Given the description of an element on the screen output the (x, y) to click on. 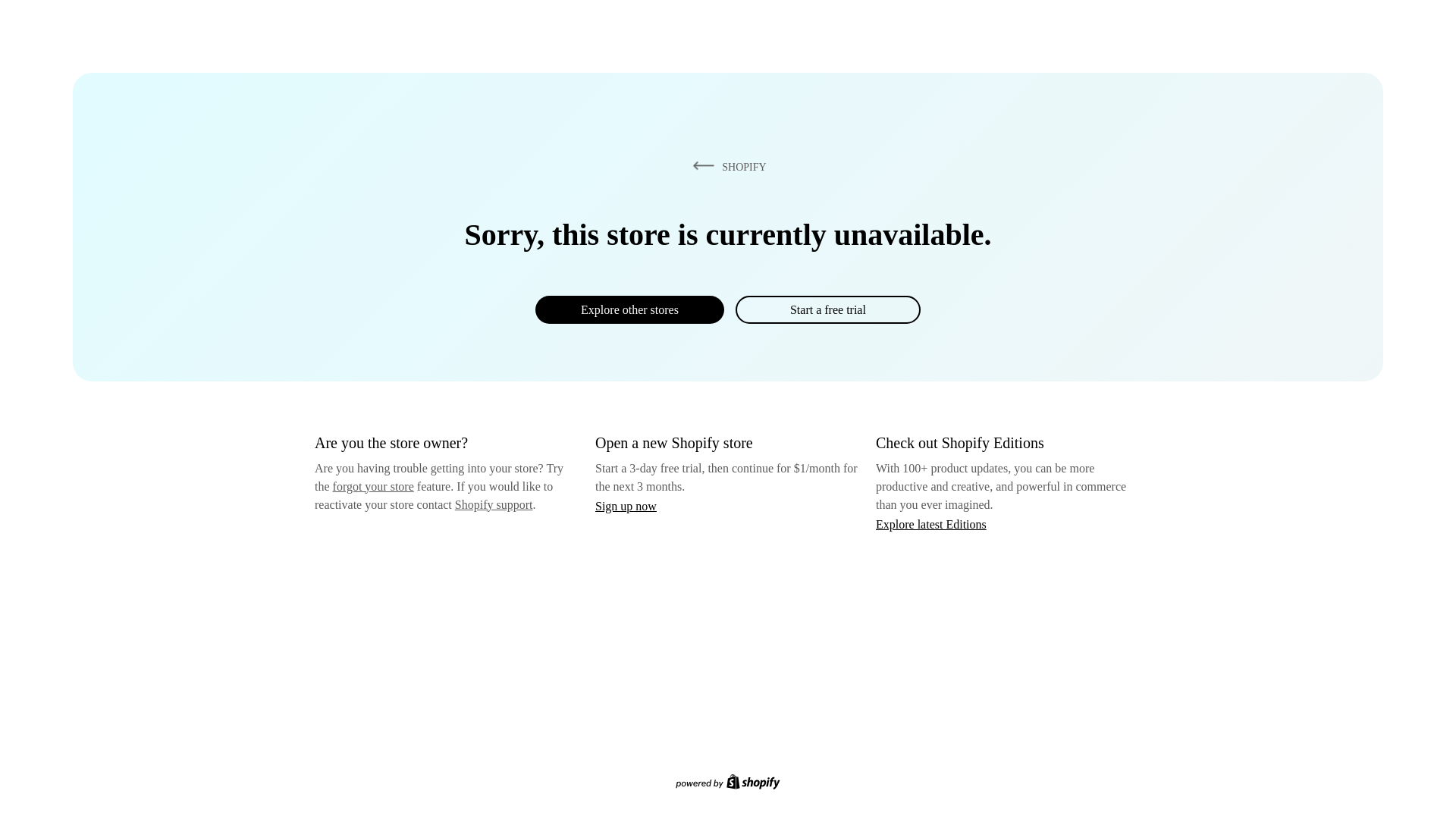
Start a free trial (827, 309)
Shopify support (493, 504)
Explore other stores (629, 309)
Sign up now (625, 505)
SHOPIFY (726, 166)
forgot your store (373, 486)
Explore latest Editions (931, 523)
